Given the description of an element on the screen output the (x, y) to click on. 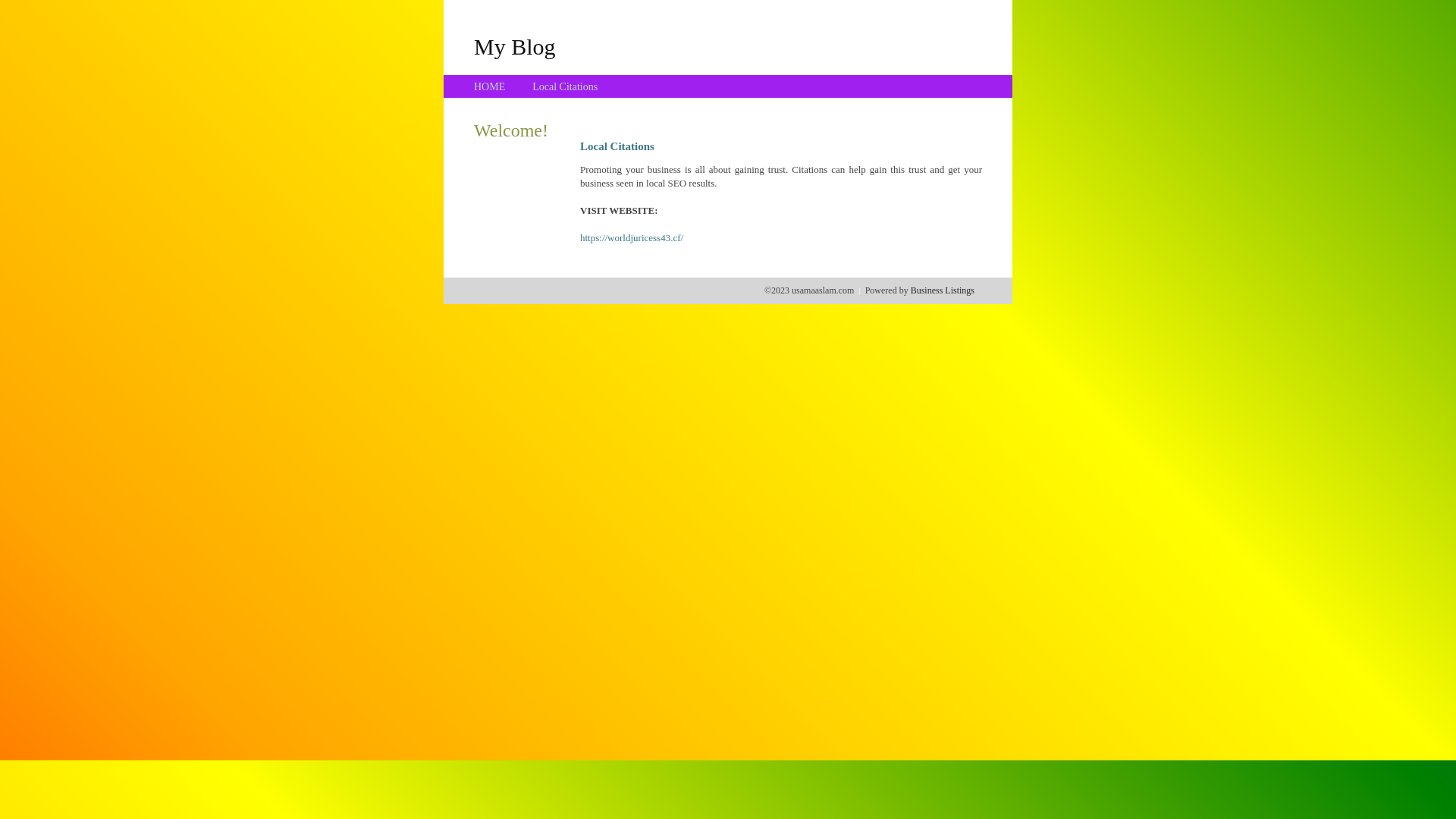
Local Citations Element type: text (564, 86)
https://worldjuricess43.cf/ Element type: text (631, 237)
HOME Element type: text (489, 86)
My Blog Element type: text (514, 46)
Business Listings Element type: text (942, 290)
